Given the description of an element on the screen output the (x, y) to click on. 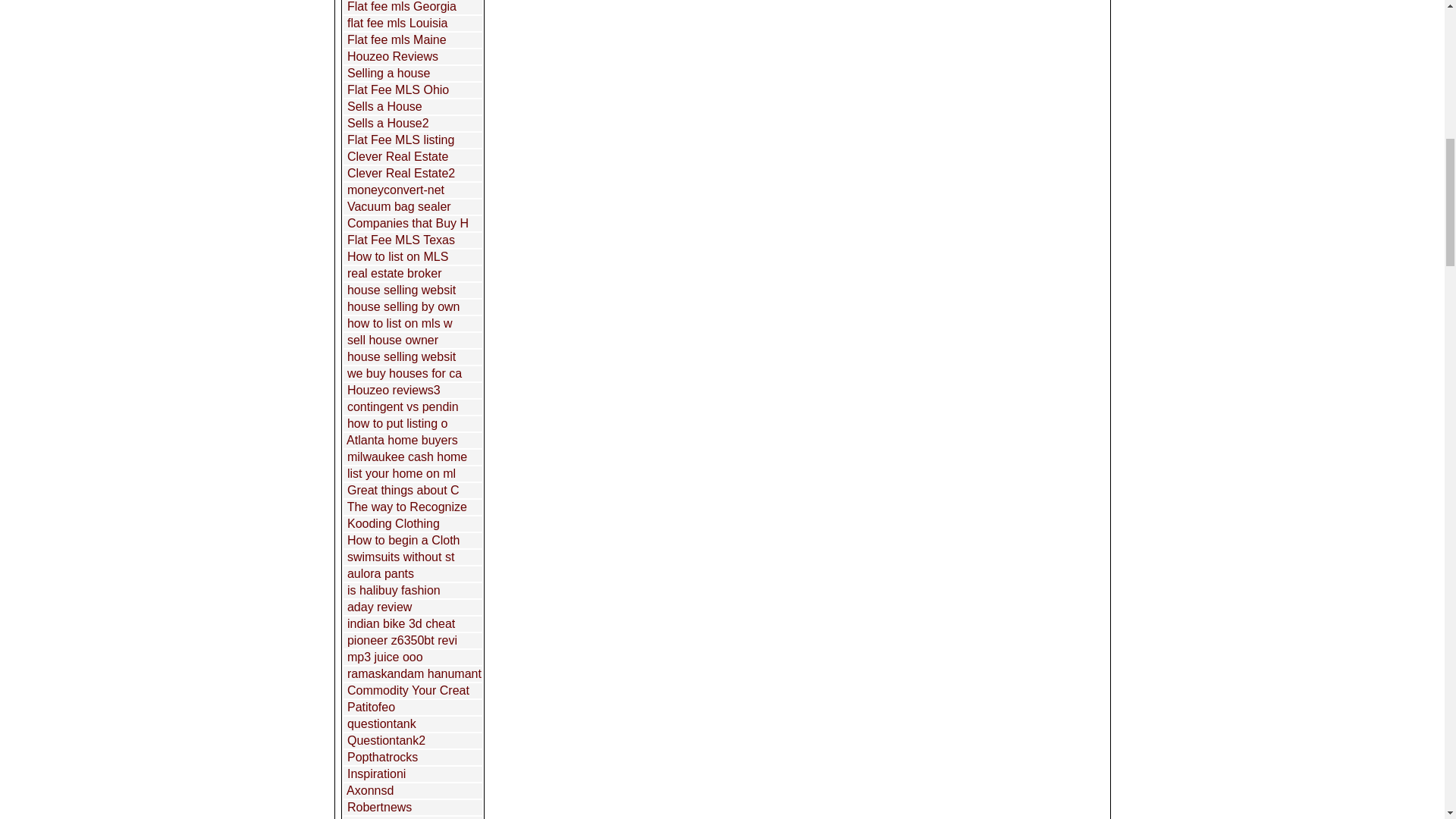
Flat fee mls Georgia (402, 6)
flat fee mls Louisia (397, 22)
Flat fee mls Maine (396, 39)
